Given the description of an element on the screen output the (x, y) to click on. 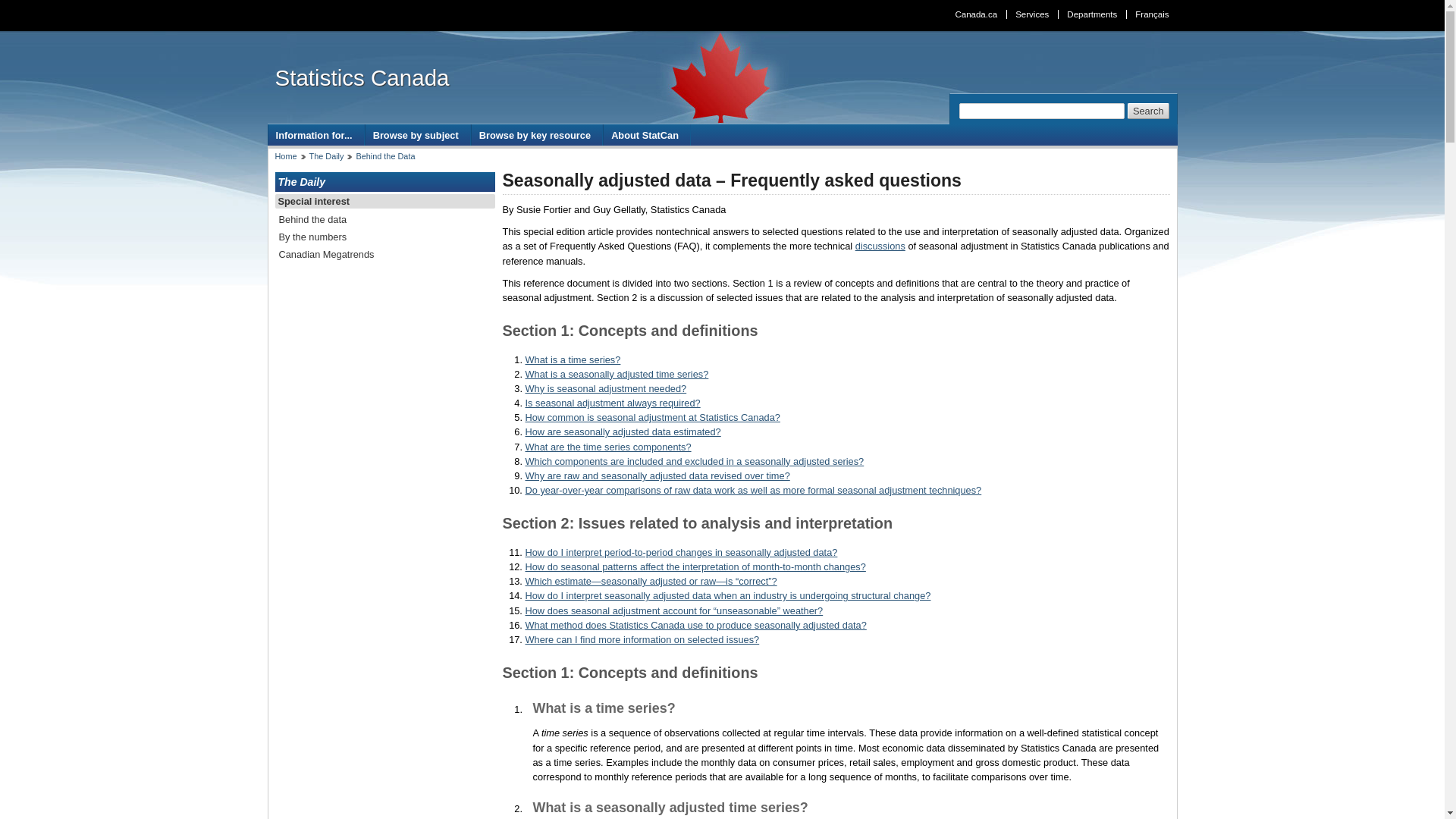
Skip to main content (726, 11)
Browse by key resource (536, 134)
How are seasonally adjusted data estimated? (622, 431)
Information for... (315, 134)
Statistics Canada (361, 77)
By the numbers (385, 236)
The Daily (325, 155)
How common is seasonal adjustment at Statistics Canada? (651, 417)
Why is seasonal adjustment needed? (604, 388)
Behind the Data (384, 155)
Browse by subject (417, 134)
Search (1147, 110)
